Given the description of an element on the screen output the (x, y) to click on. 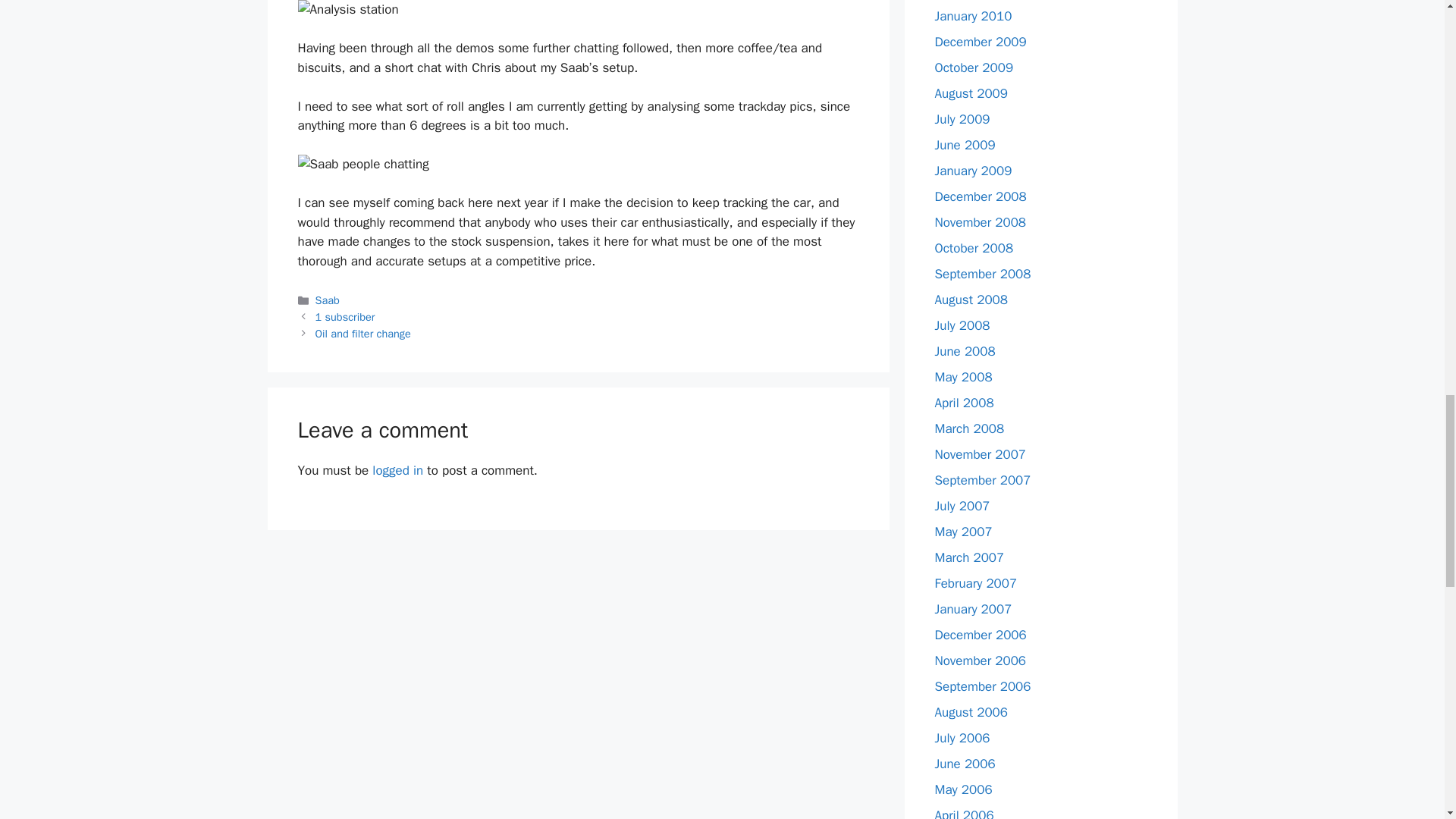
Oil and filter change (362, 333)
1 subscriber (345, 316)
Saab (327, 300)
logged in (397, 470)
